Given the description of an element on the screen output the (x, y) to click on. 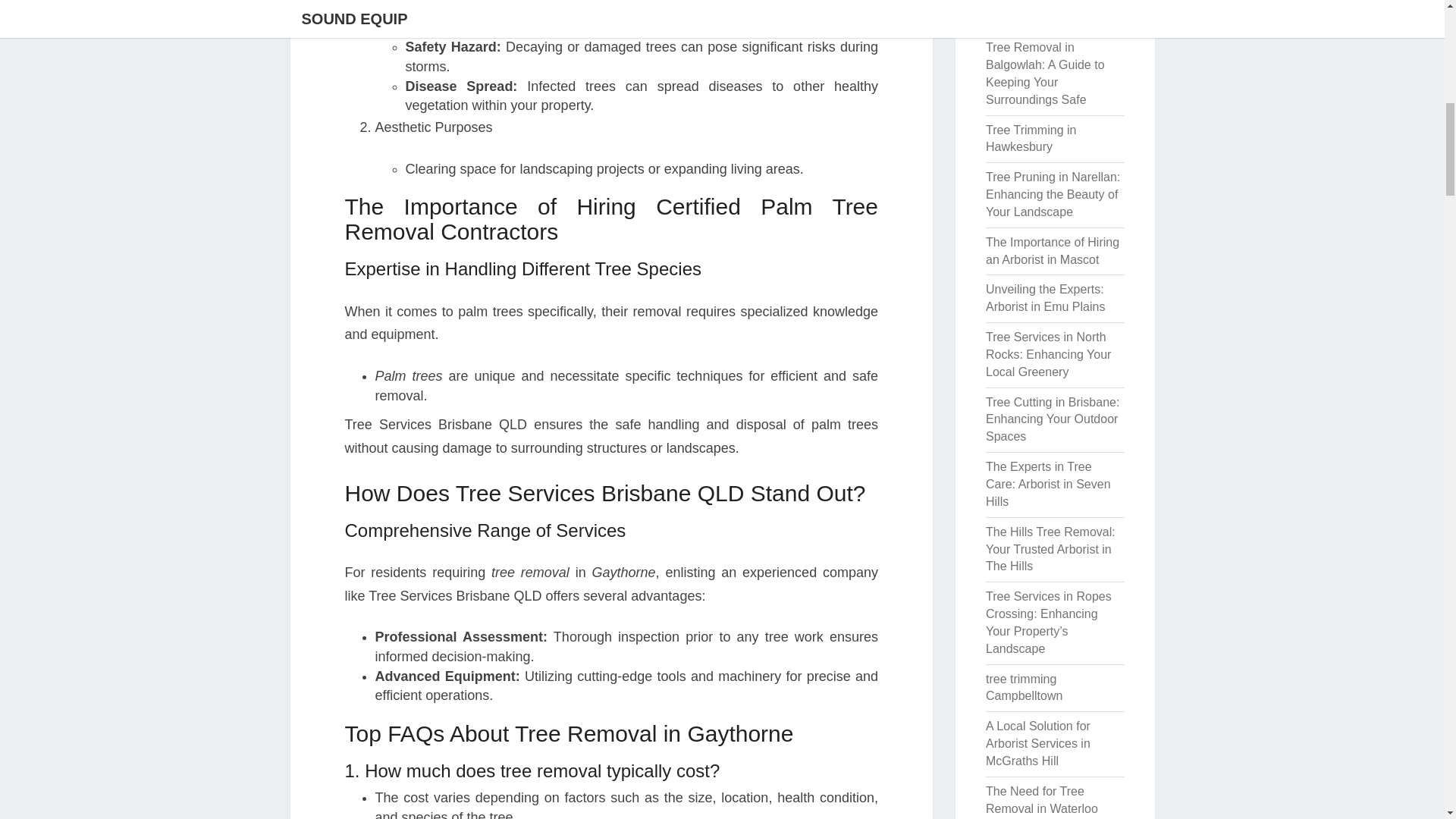
The Need for Tree Removal in Waterloo (1041, 799)
A Local Solution for Arborist Services in McGraths Hill (1037, 743)
Tree Services in North Rocks: Enhancing Your Local Greenery (1047, 354)
The Importance of Hiring an Arborist in Mascot (1052, 250)
The Experts in Tree Care: Arborist in Seven Hills (1047, 483)
Tree Cutting in Brisbane: Enhancing Your Outdoor Spaces (1052, 419)
tree trimming Campbelltown (1023, 687)
The Reliable and Professional Blacktown Tree Services (1047, 12)
Unveiling the Experts: Arborist in Emu Plains (1045, 297)
The Hills Tree Removal: Your Trusted Arborist in The Hills (1050, 549)
Tree Trimming in Hawkesbury (1030, 138)
